Given the description of an element on the screen output the (x, y) to click on. 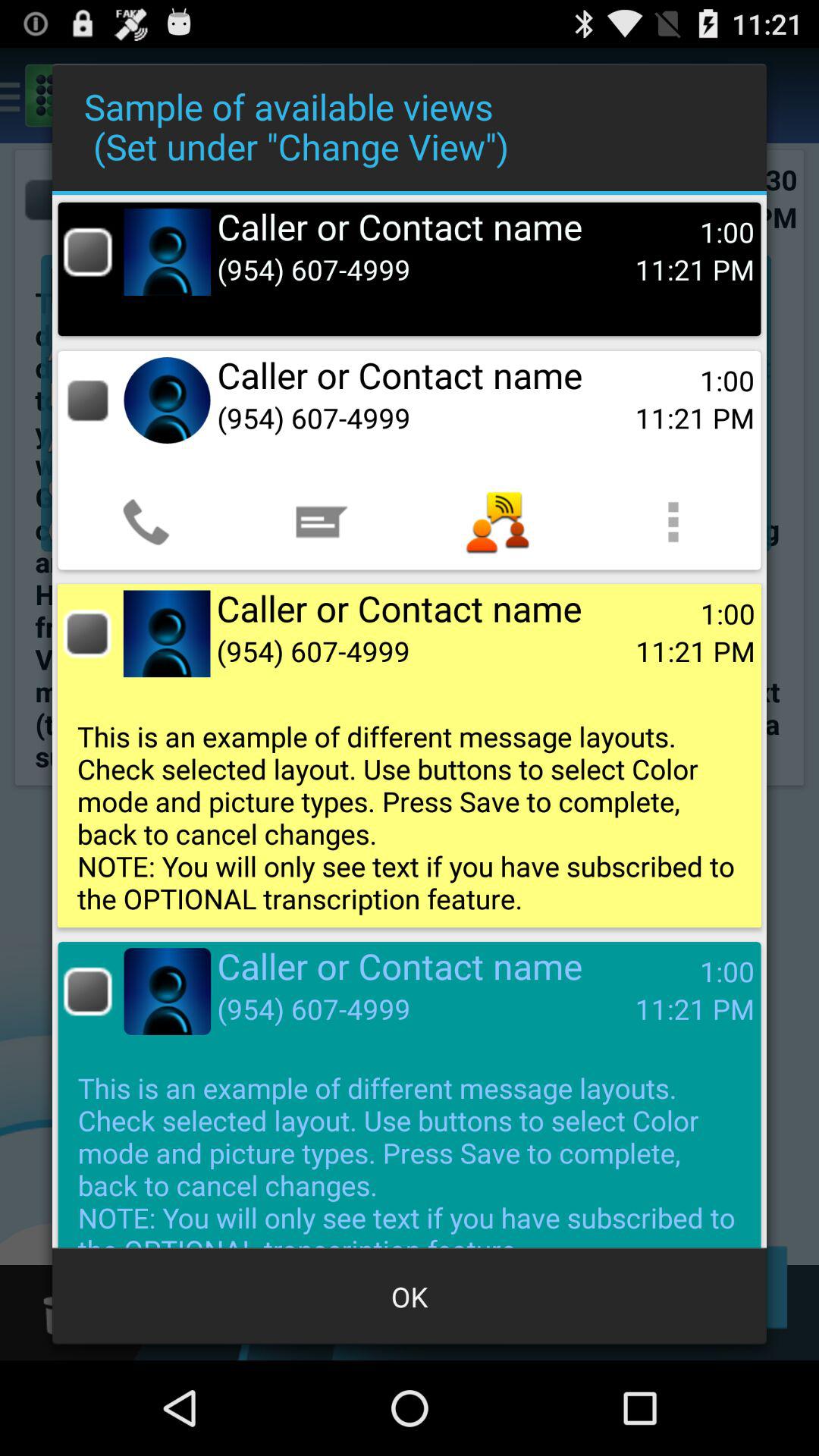
select view type (87, 400)
